Given the description of an element on the screen output the (x, y) to click on. 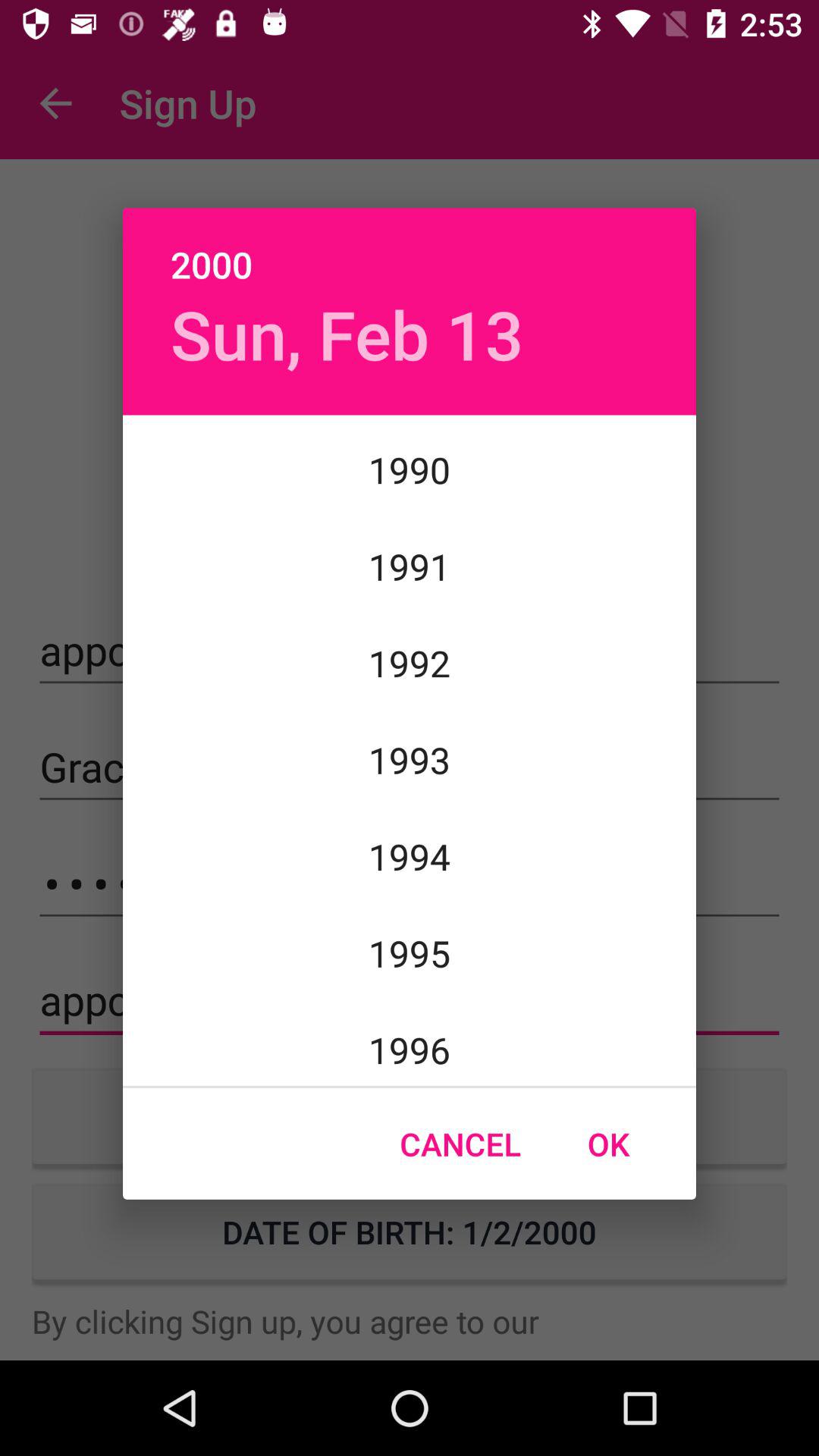
turn on the cancel item (459, 1143)
